Given the description of an element on the screen output the (x, y) to click on. 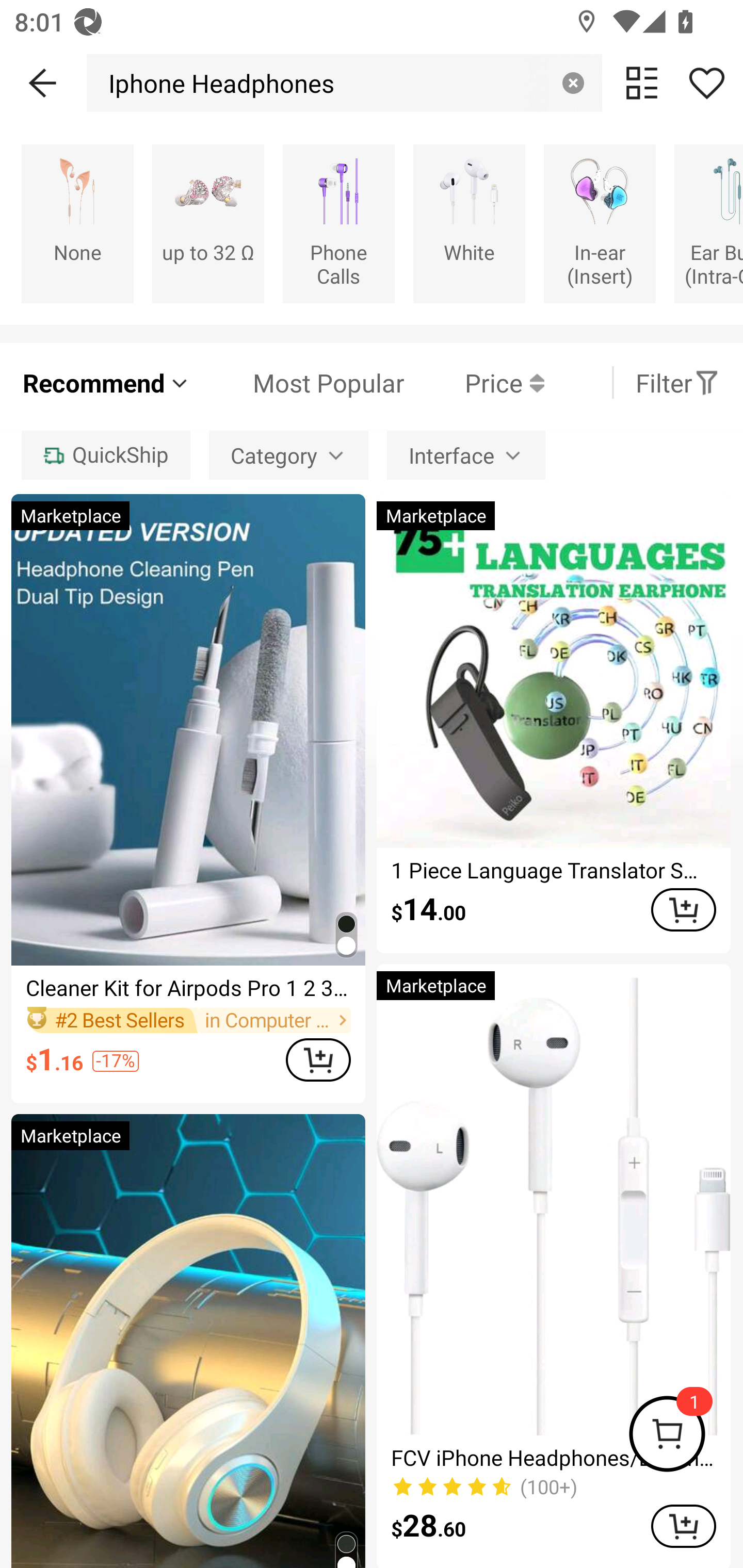
Iphone Headphones (215, 82)
Clear (572, 82)
change view (641, 82)
Share (706, 82)
None (77, 223)
up to 32 Ω (208, 223)
Phone Calls (338, 223)
White (469, 223)
In-ear (Insert) (599, 223)
Recommend (106, 382)
Most Popular (297, 382)
Price (474, 382)
Filter (677, 382)
QuickShip (105, 455)
Category (288, 455)
Interface (466, 455)
ADD TO CART (683, 909)
#2 Best Sellers in Computer Cleaners (188, 1019)
ADD TO CART (318, 1059)
ADD TO CART (683, 1526)
